Given the description of an element on the screen output the (x, y) to click on. 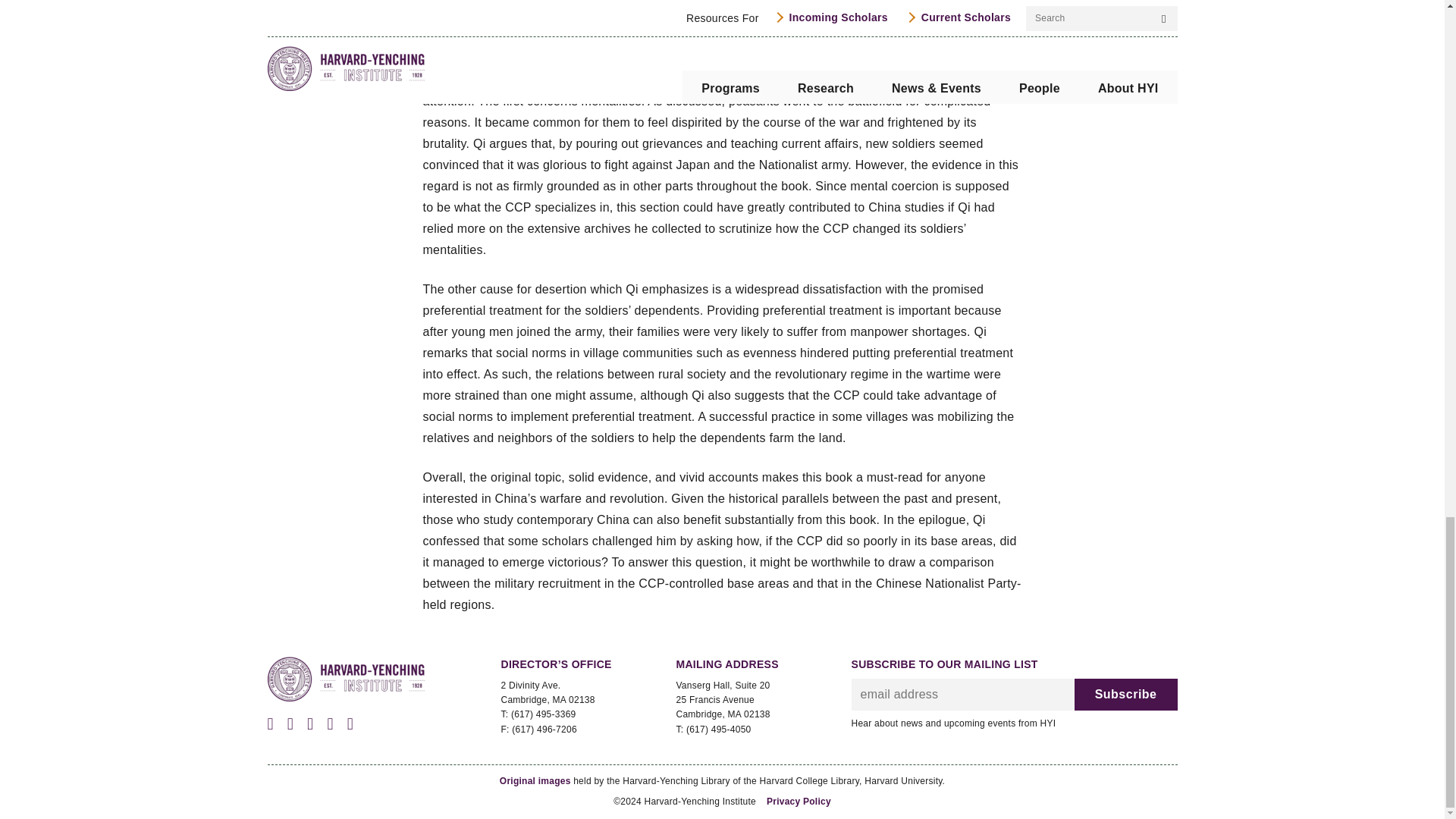
Subscribe (1125, 694)
